Given the description of an element on the screen output the (x, y) to click on. 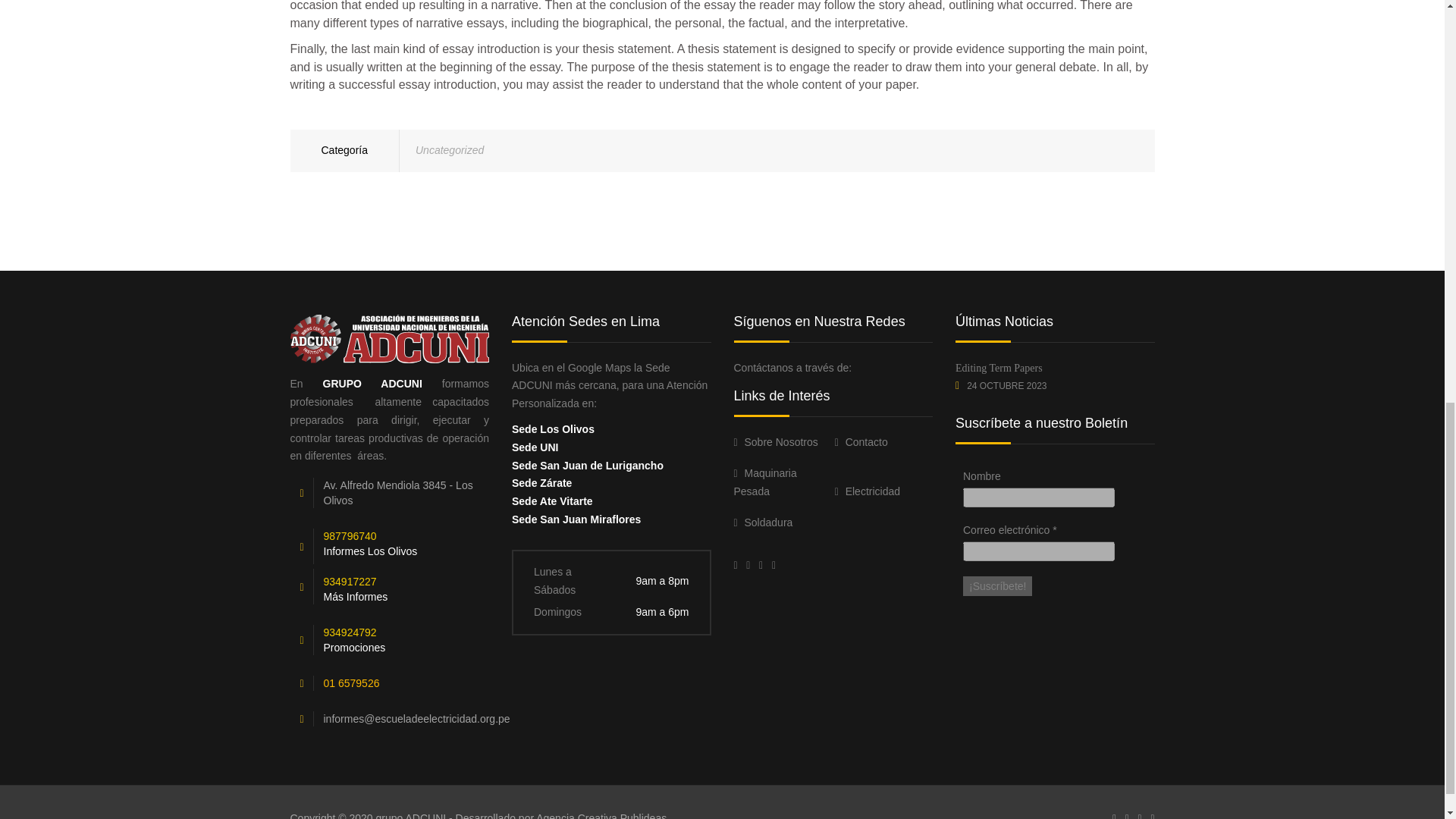
Uncategorized (448, 150)
Nombre (1038, 496)
